Given the description of an element on the screen output the (x, y) to click on. 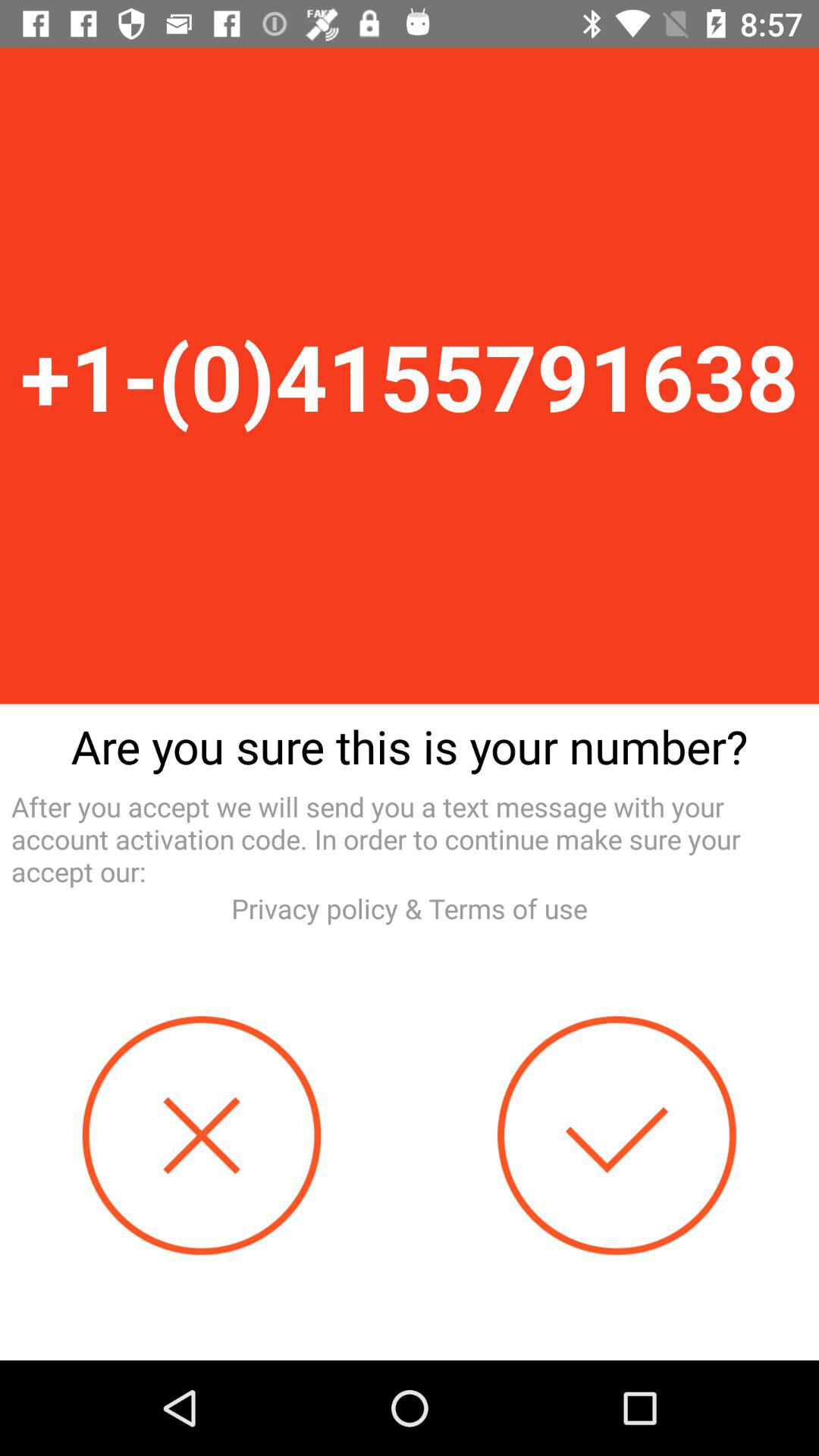
swipe to privacy policy terms (409, 908)
